Given the description of an element on the screen output the (x, y) to click on. 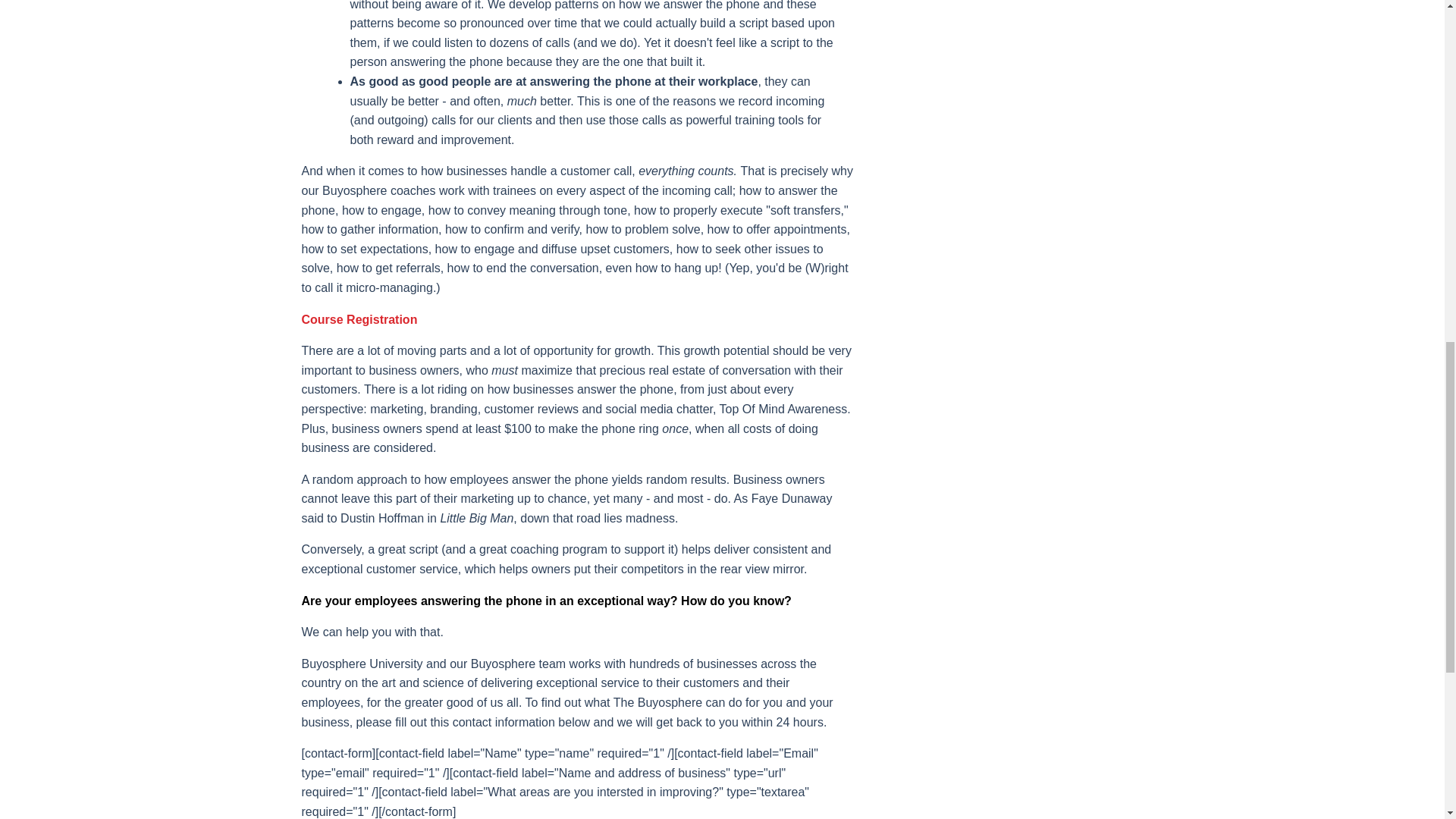
Course Registration (359, 318)
